Given the description of an element on the screen output the (x, y) to click on. 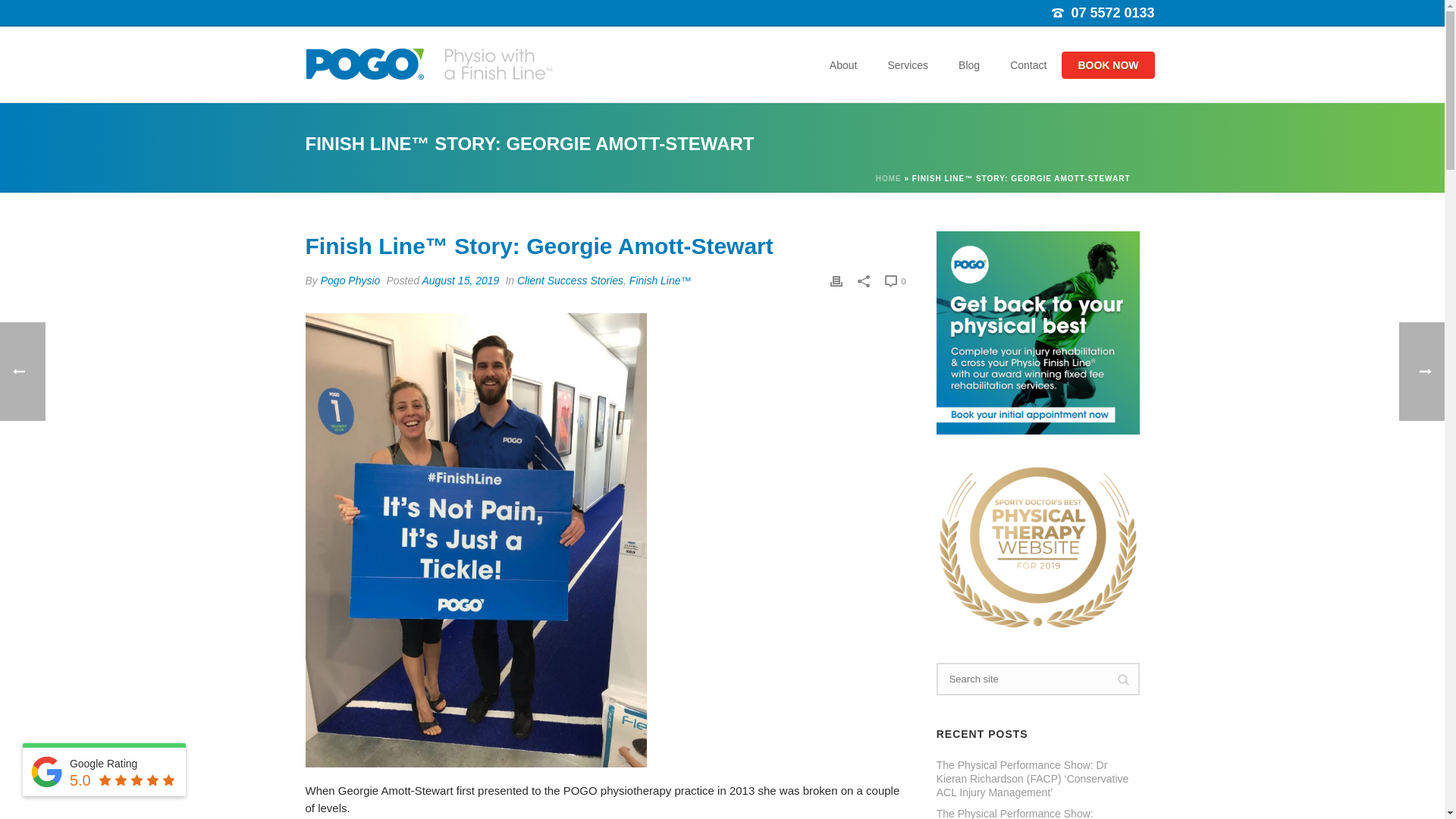
Print (835, 280)
Blog (968, 65)
07 5572 0133 (1112, 12)
Physio with a Finish Line (431, 64)
Contact (1027, 65)
Services (907, 65)
About (842, 65)
Contact (1027, 65)
Services (907, 65)
Blog (968, 65)
About (842, 65)
BOOK NOW (1107, 64)
Posts by Pogo Physio (350, 280)
BOOK NOW (1107, 64)
